Given the description of an element on the screen output the (x, y) to click on. 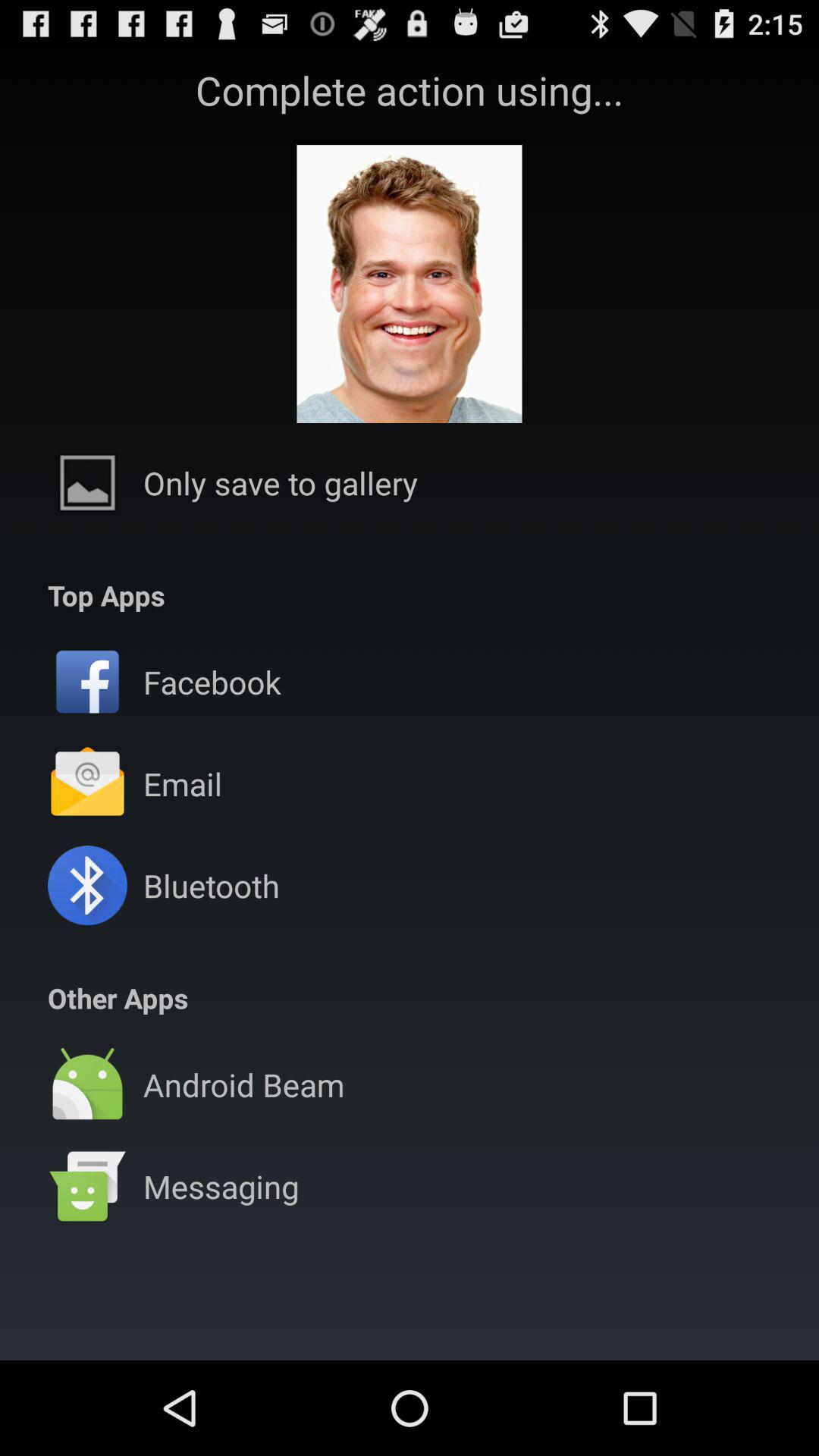
scroll until the top apps app (105, 595)
